Given the description of an element on the screen output the (x, y) to click on. 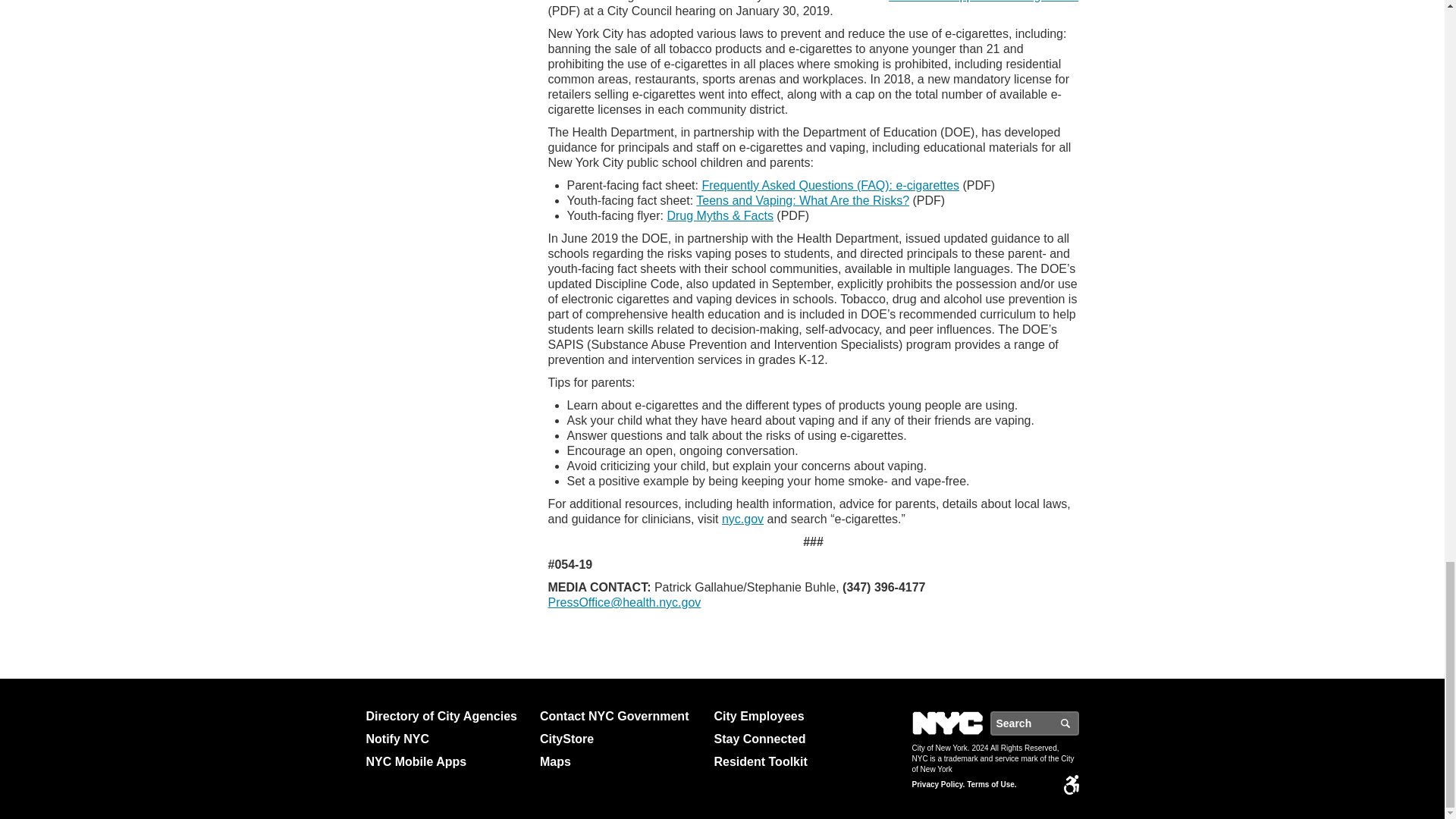
Teens and Vaping: What Are the Risks? (801, 200)
Privacy Ploicy  (937, 784)
testified in support of the legislation (983, 1)
Terms of Use (991, 784)
